Given the description of an element on the screen output the (x, y) to click on. 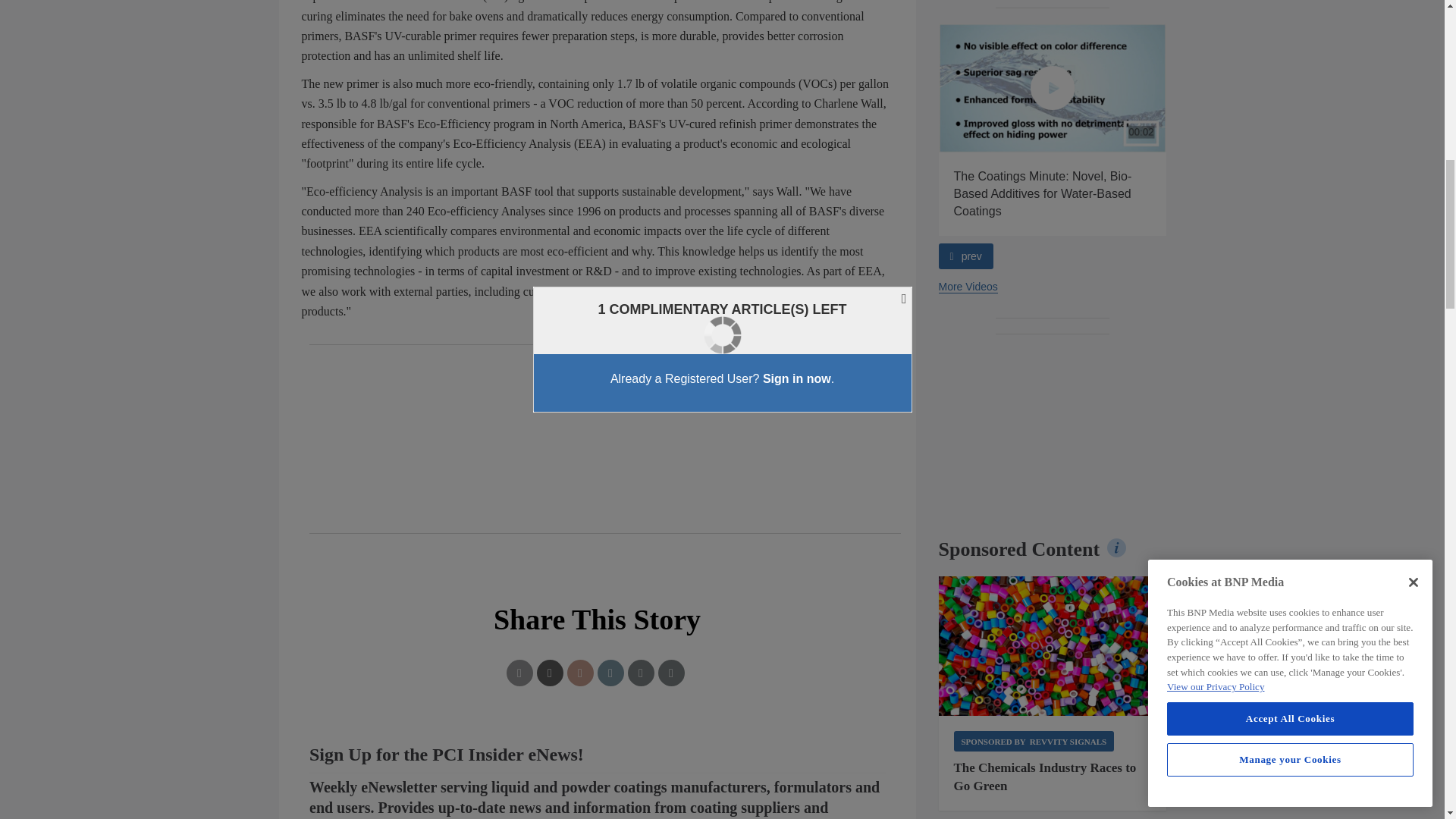
Interaction questions (597, 776)
Spec-Chemical-Img-900.png (1052, 645)
Sponsored by Revvity Signals (1034, 741)
